Given the description of an element on the screen output the (x, y) to click on. 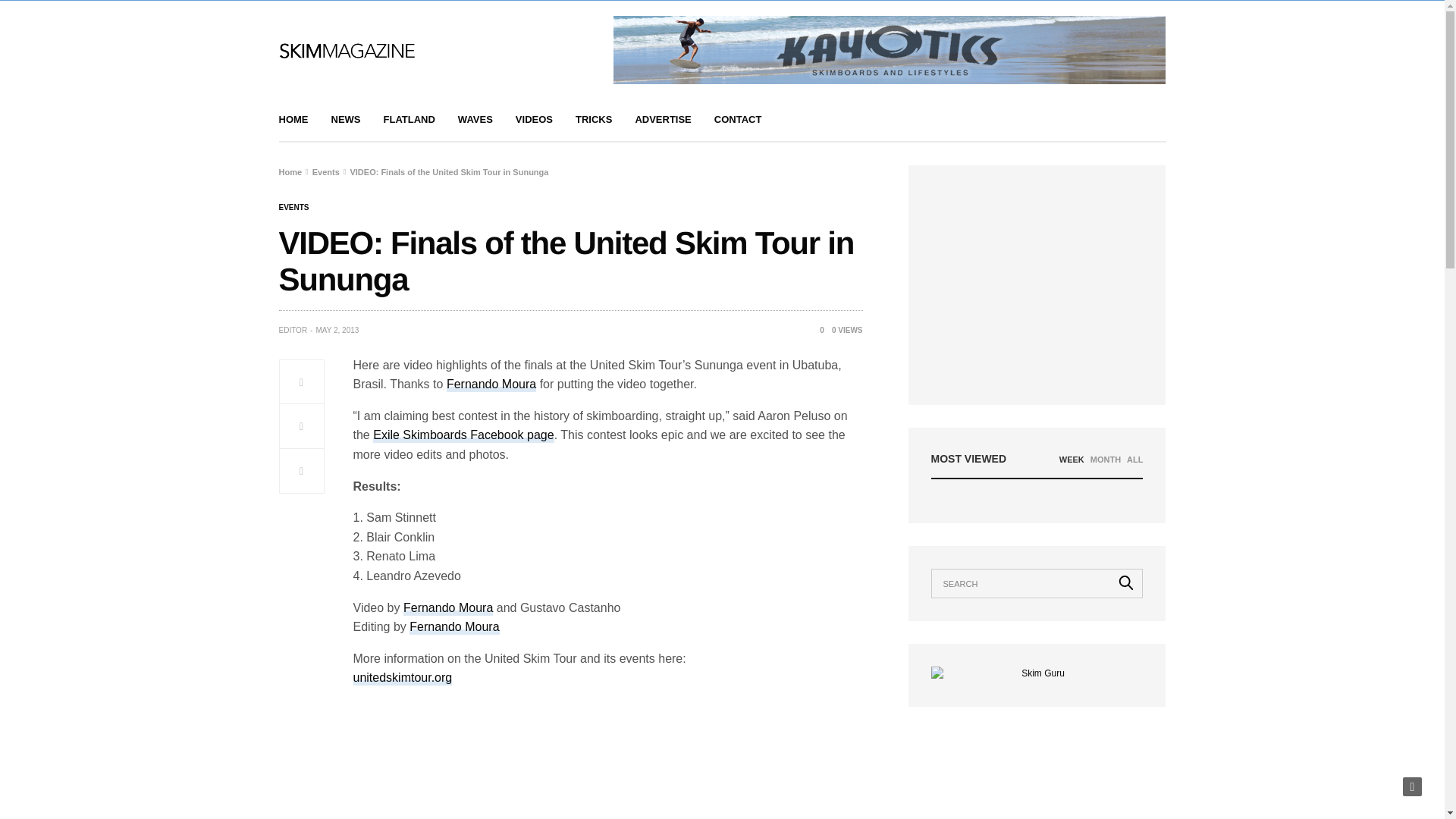
NEWS (344, 119)
ADVERTISE (662, 119)
Fernando Moura (454, 626)
Fernando Moura (448, 608)
Posts by Editor (293, 330)
unitedskimtour.org (402, 677)
VIDEOS (534, 119)
EDITOR (293, 330)
Fernando Moura (490, 384)
Events (293, 207)
WAVES (475, 119)
TRICKS (593, 119)
0 (816, 329)
Exile Skimboards Facebook page (462, 435)
EVENTS (293, 207)
